Given the description of an element on the screen output the (x, y) to click on. 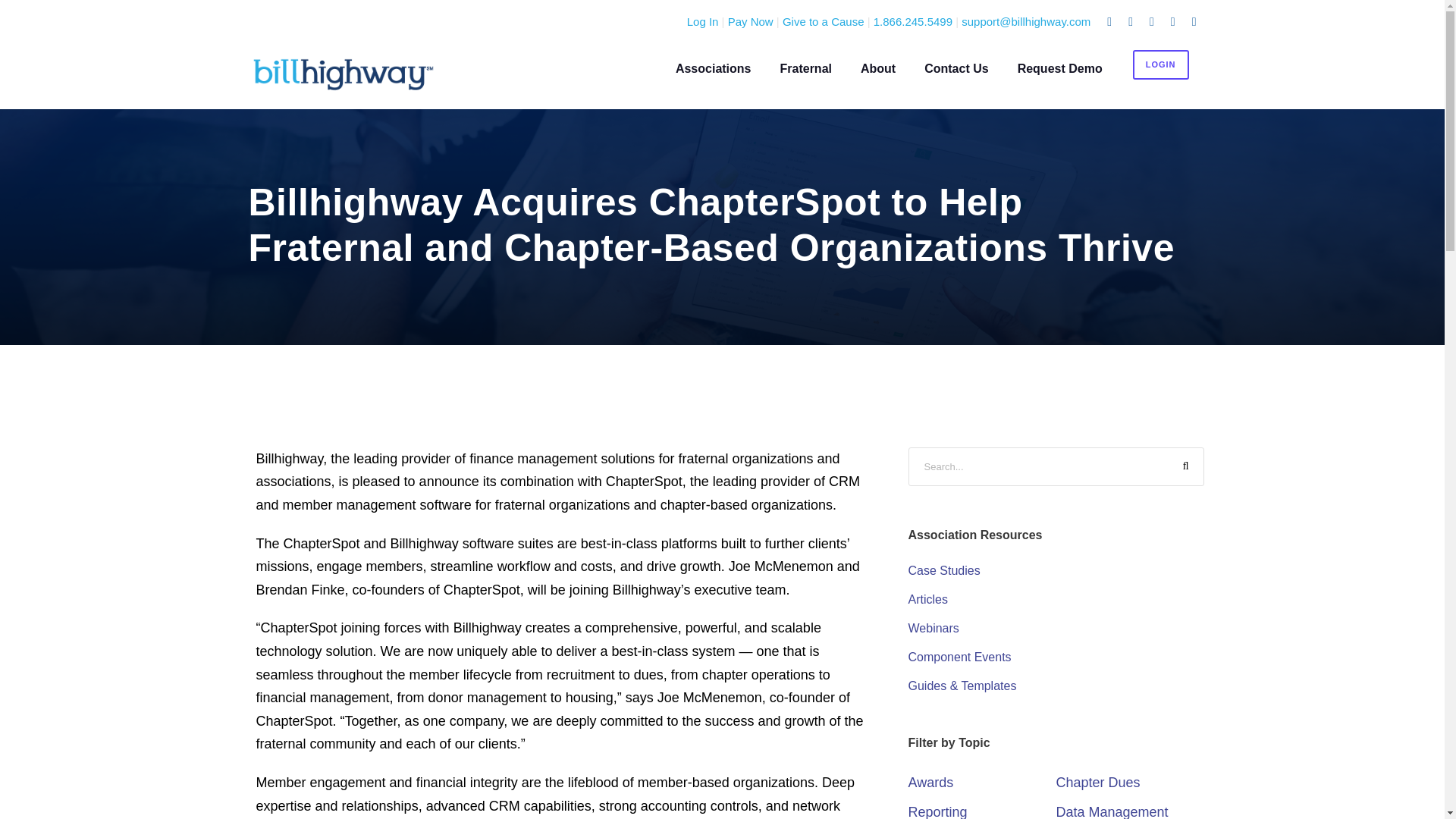
Log In (703, 21)
Billhighway logo small (343, 74)
